Given the description of an element on the screen output the (x, y) to click on. 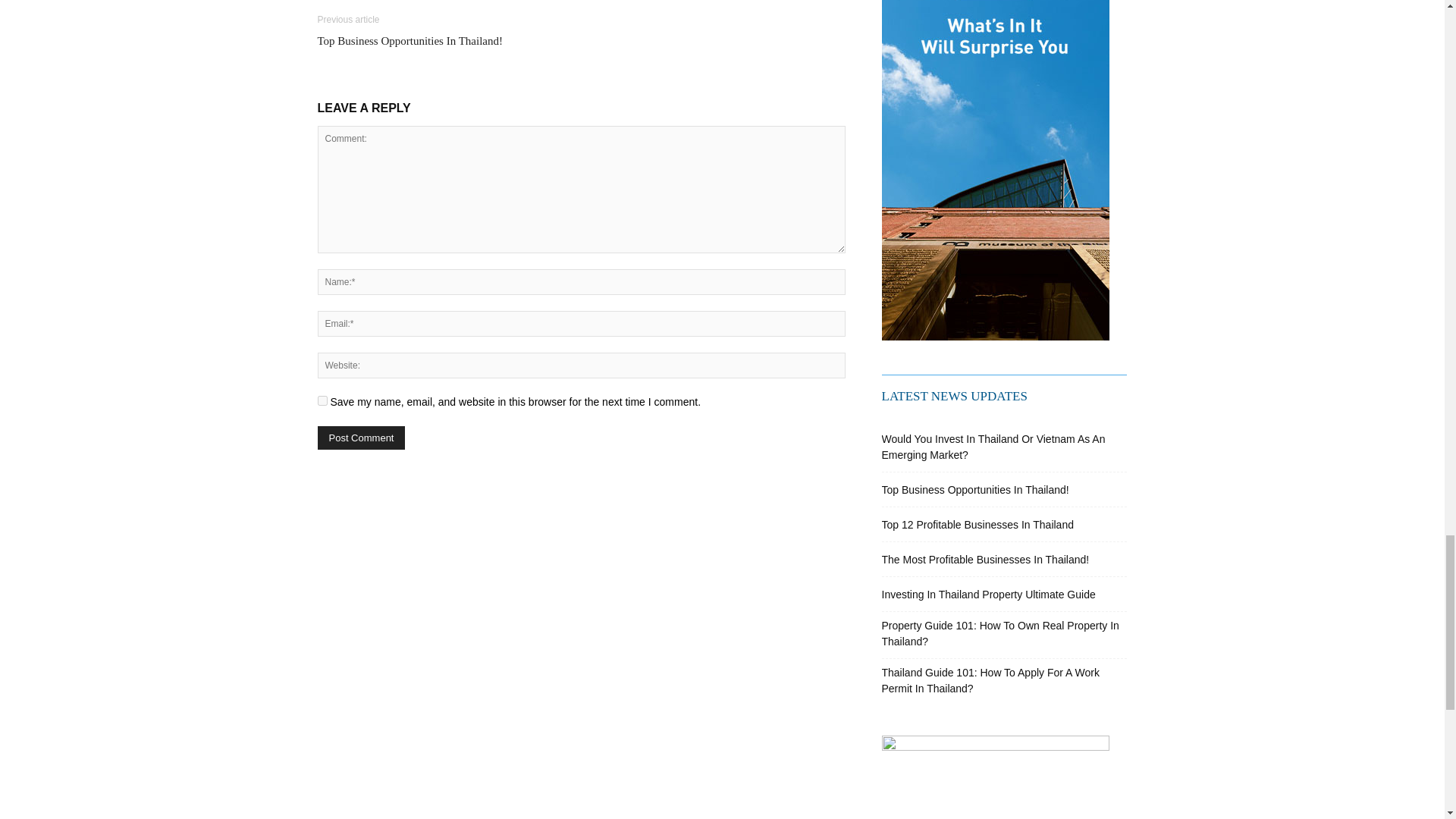
yes (321, 400)
Top Business Opportunities In Thailand! (409, 41)
Post Comment (360, 437)
Post Comment (360, 437)
